Given the description of an element on the screen output the (x, y) to click on. 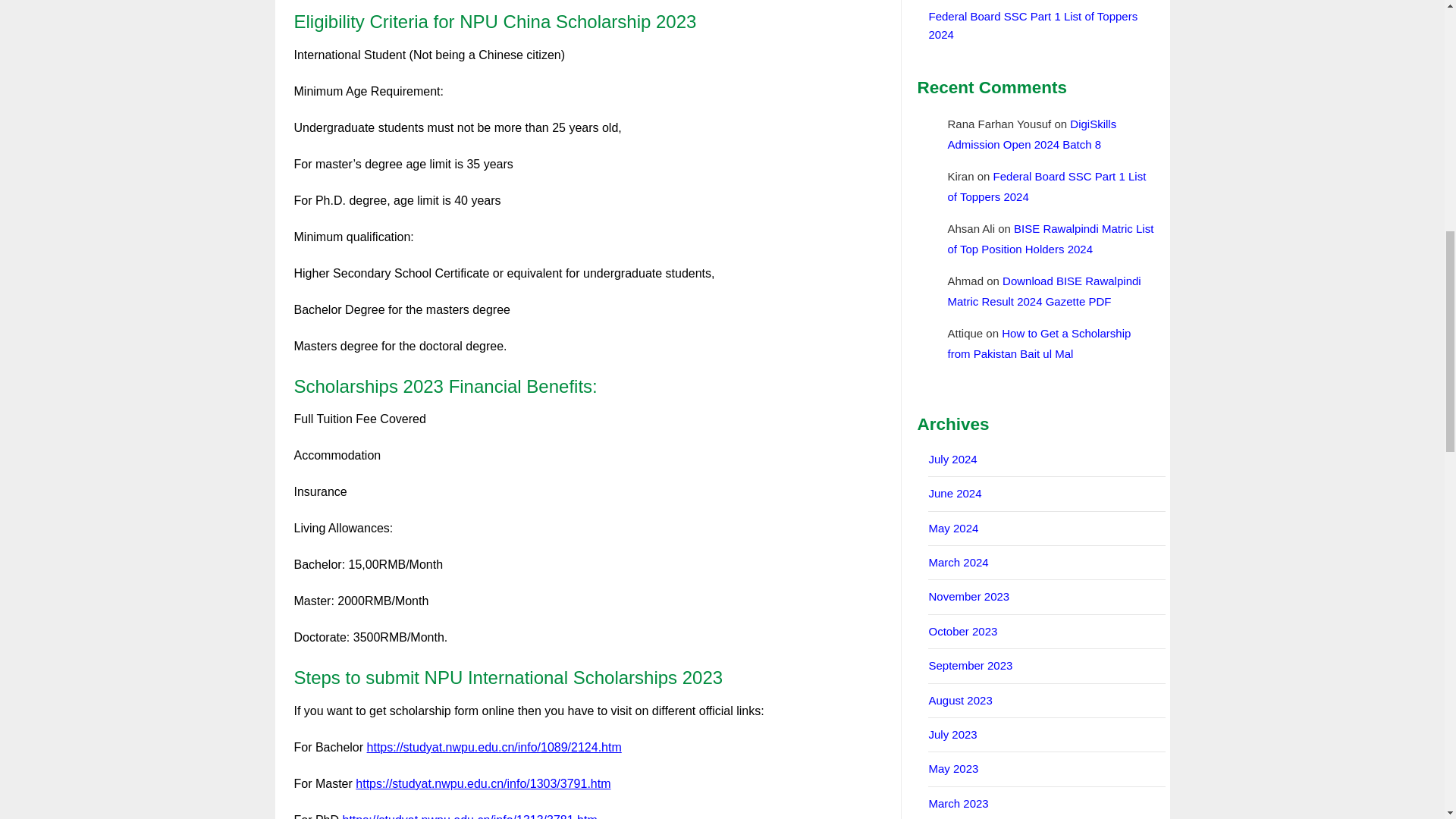
Download BISE Rawalpindi Matric Result 2024 Gazette PDF (1043, 290)
BISE Rawalpindi Matric List of Top Position Holders 2024 (1050, 238)
July 2024 (952, 459)
June 2024 (954, 492)
Federal Board SSC Part 1 List of Toppers 2024 (1032, 24)
DigiSkills Admission Open 2024 Batch 8 (1031, 133)
How to Get a Scholarship from Pakistan Bait ul Mal (1039, 343)
Federal Board SSC Part 1 List of Toppers 2024 (1046, 186)
